Given the description of an element on the screen output the (x, y) to click on. 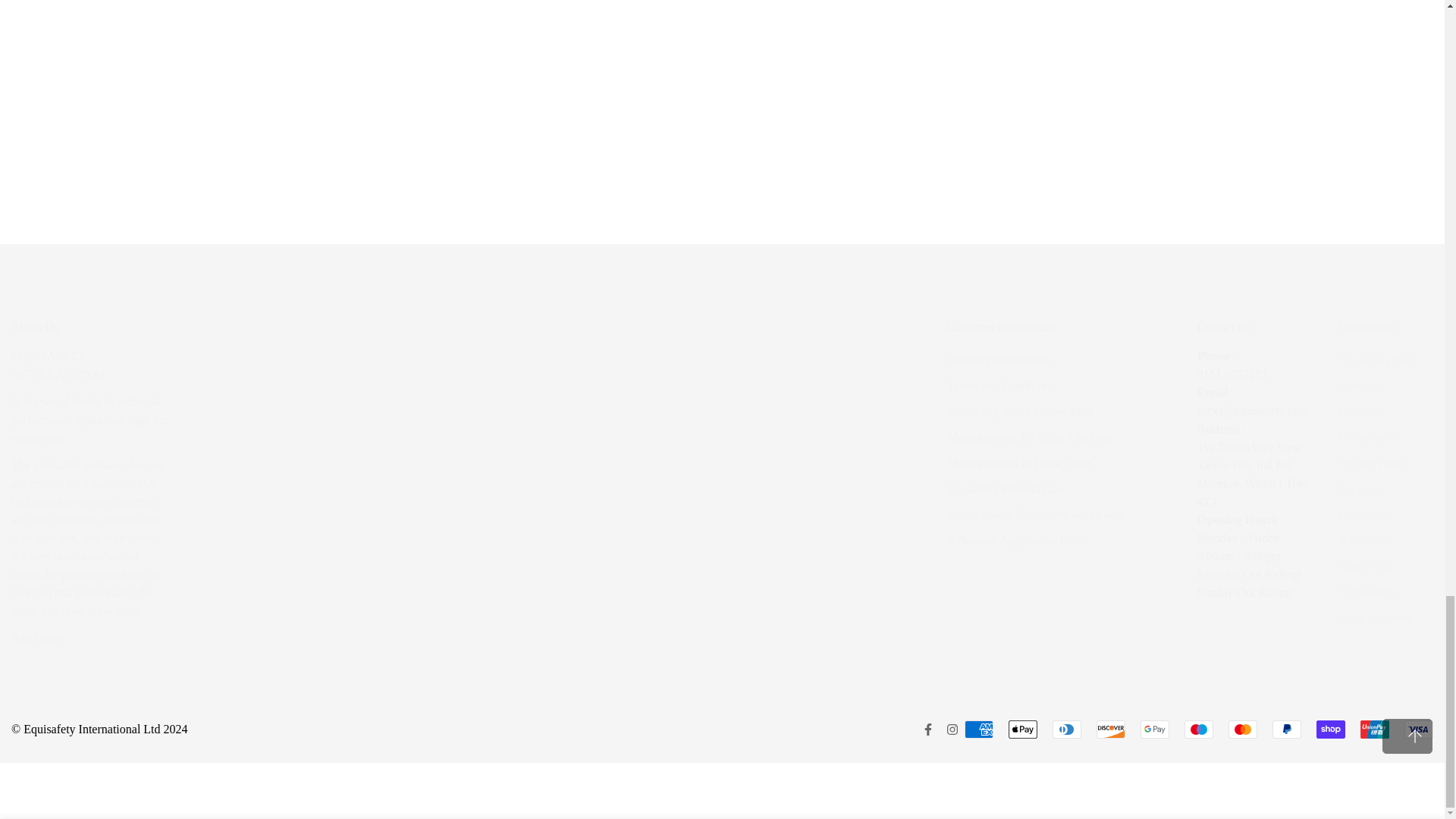
ABOUT EQUISAFETY LTD (38, 637)
